Given the description of an element on the screen output the (x, y) to click on. 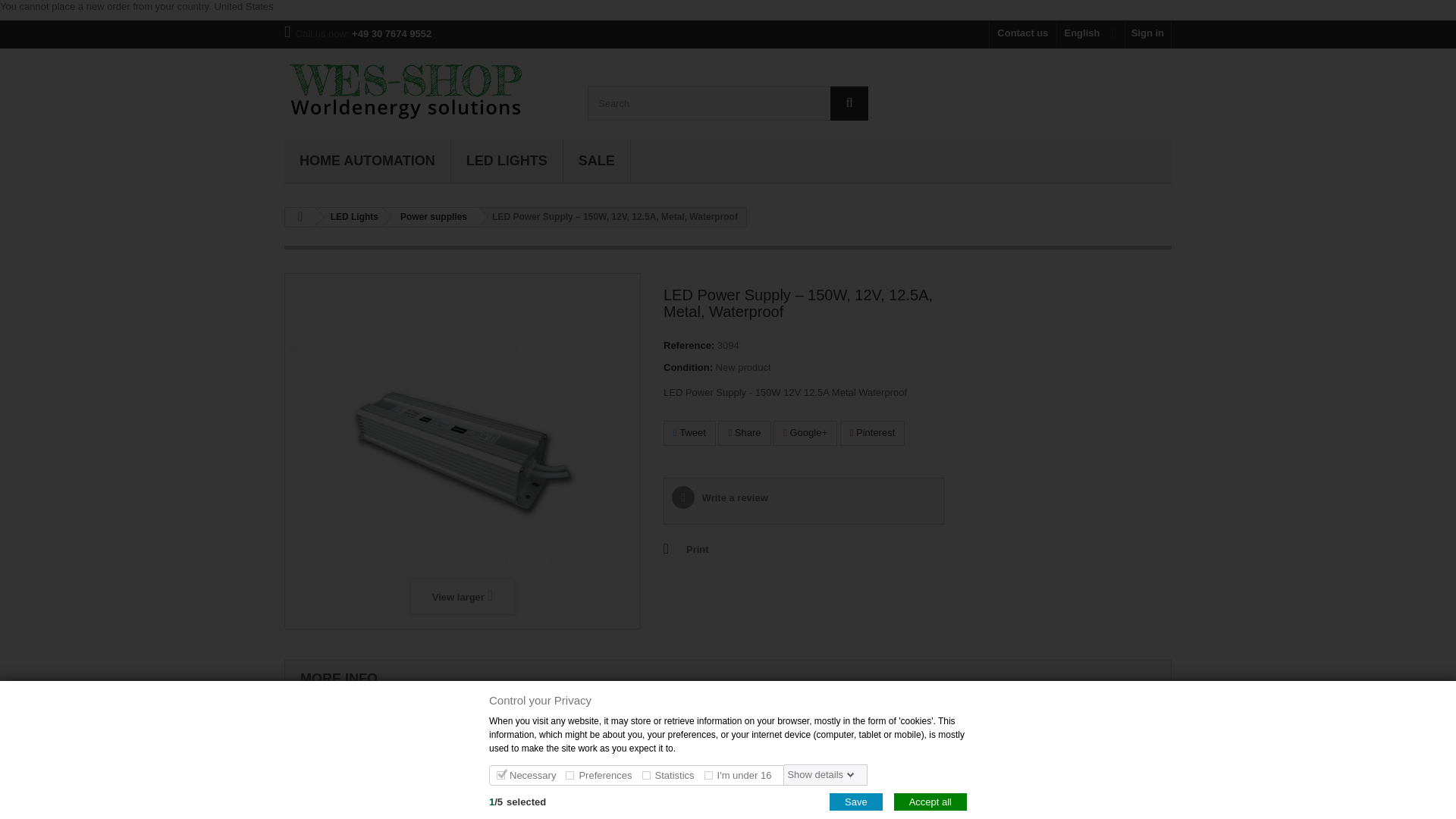
Home automation (366, 161)
WES-SHOP (423, 89)
Share (743, 432)
Power supplies (431, 217)
HOME AUTOMATION (366, 161)
LED LIGHTS (506, 161)
Contact us (1022, 34)
LED Lights (352, 217)
Sign in (1147, 34)
LED Lights (506, 161)
Tweet (689, 432)
SALE (596, 161)
Log in to your customer account (1147, 34)
Contact us (1022, 34)
